Given the description of an element on the screen output the (x, y) to click on. 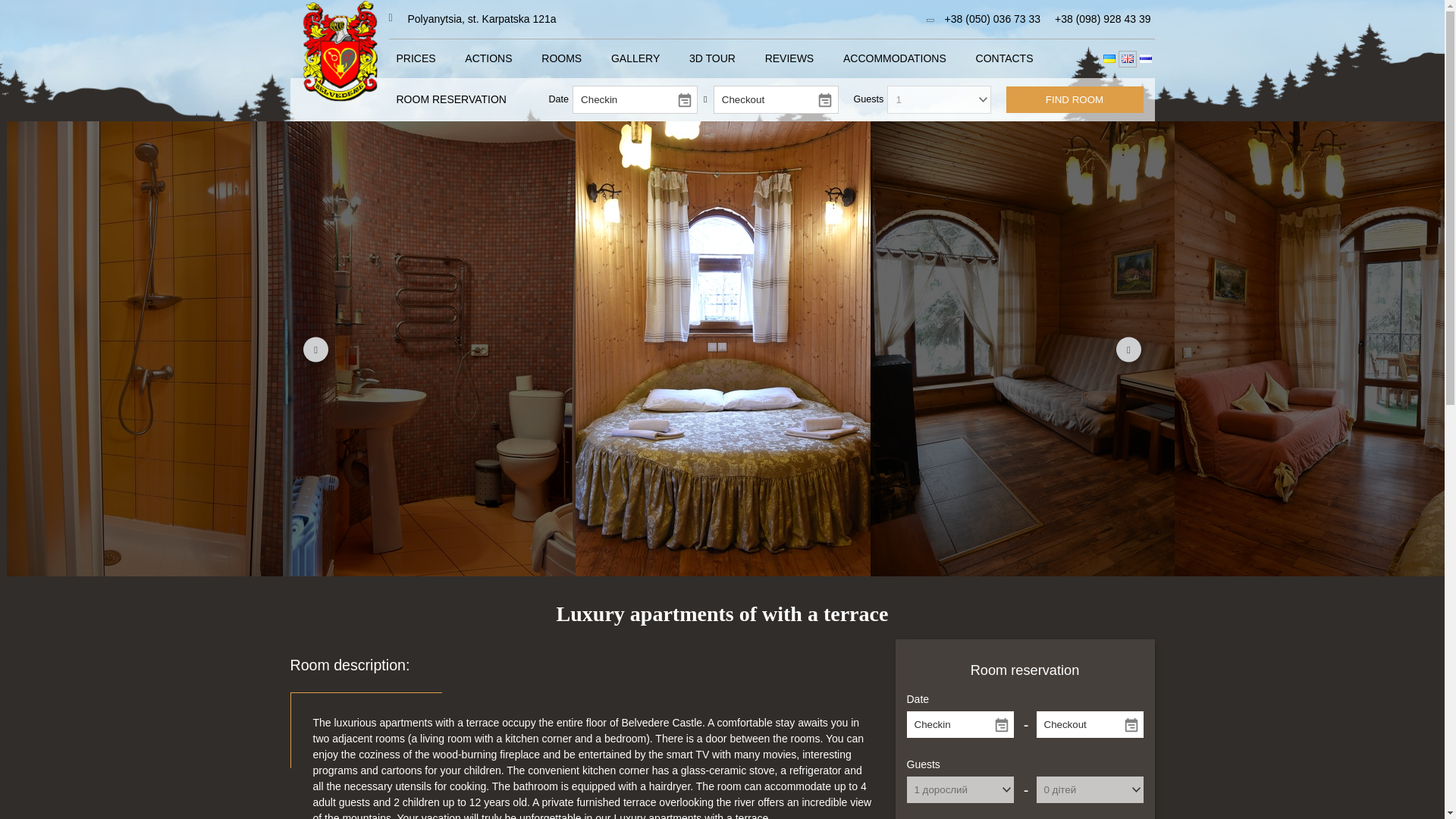
ACCOMMODATIONS (894, 58)
PRICES (415, 58)
FIND ROOM (1074, 99)
3D TOUR (711, 58)
REVIEWS (789, 58)
eng (1126, 58)
GALLERY (635, 58)
ROOMS (561, 58)
ACTIONS (488, 58)
CONTACTS (1004, 58)
